Given the description of an element on the screen output the (x, y) to click on. 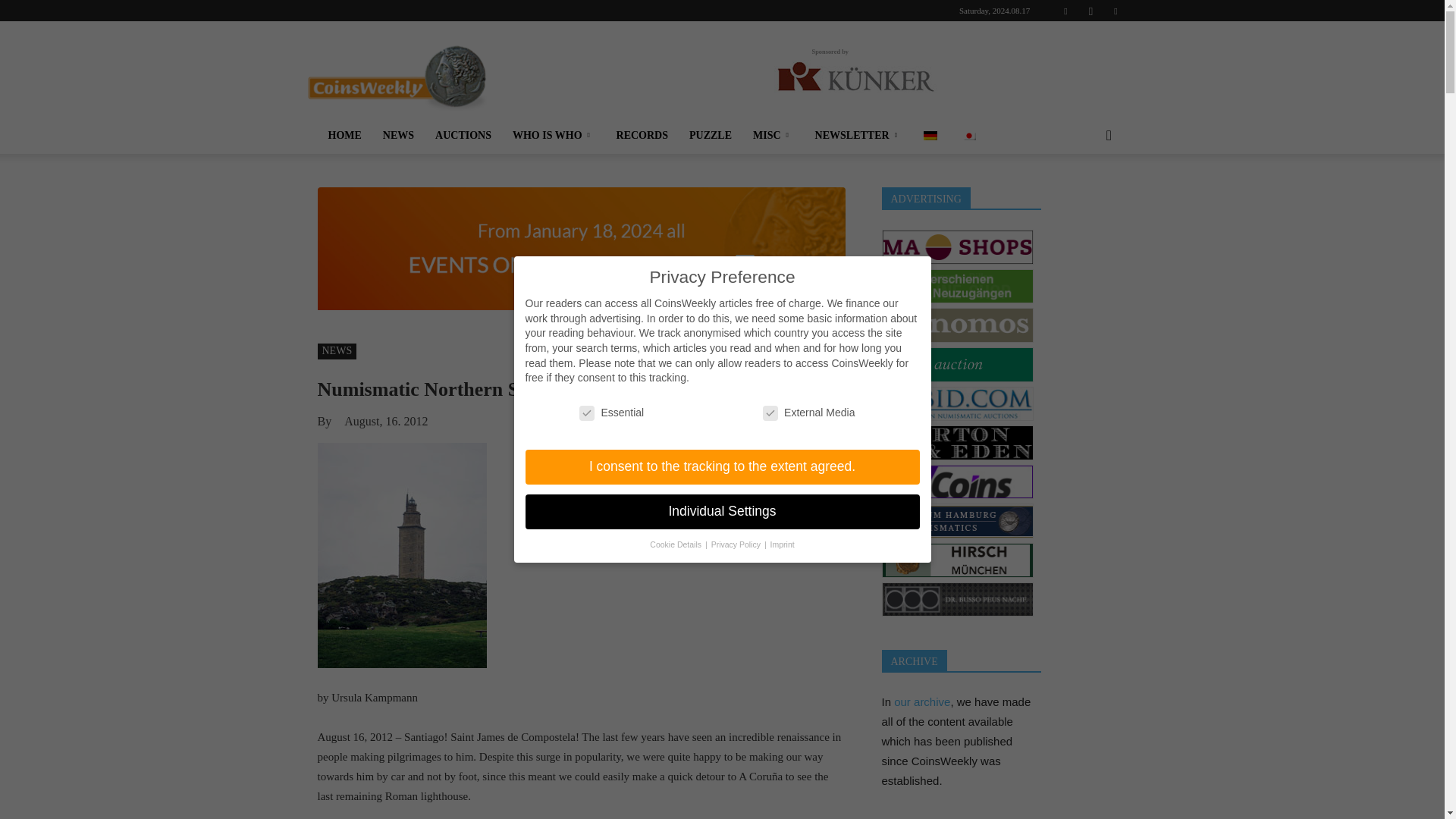
Instagram (1090, 10)
CoinsWeekly.com (395, 76)
Youtube (1114, 10)
Facebook (1065, 10)
